Given the description of an element on the screen output the (x, y) to click on. 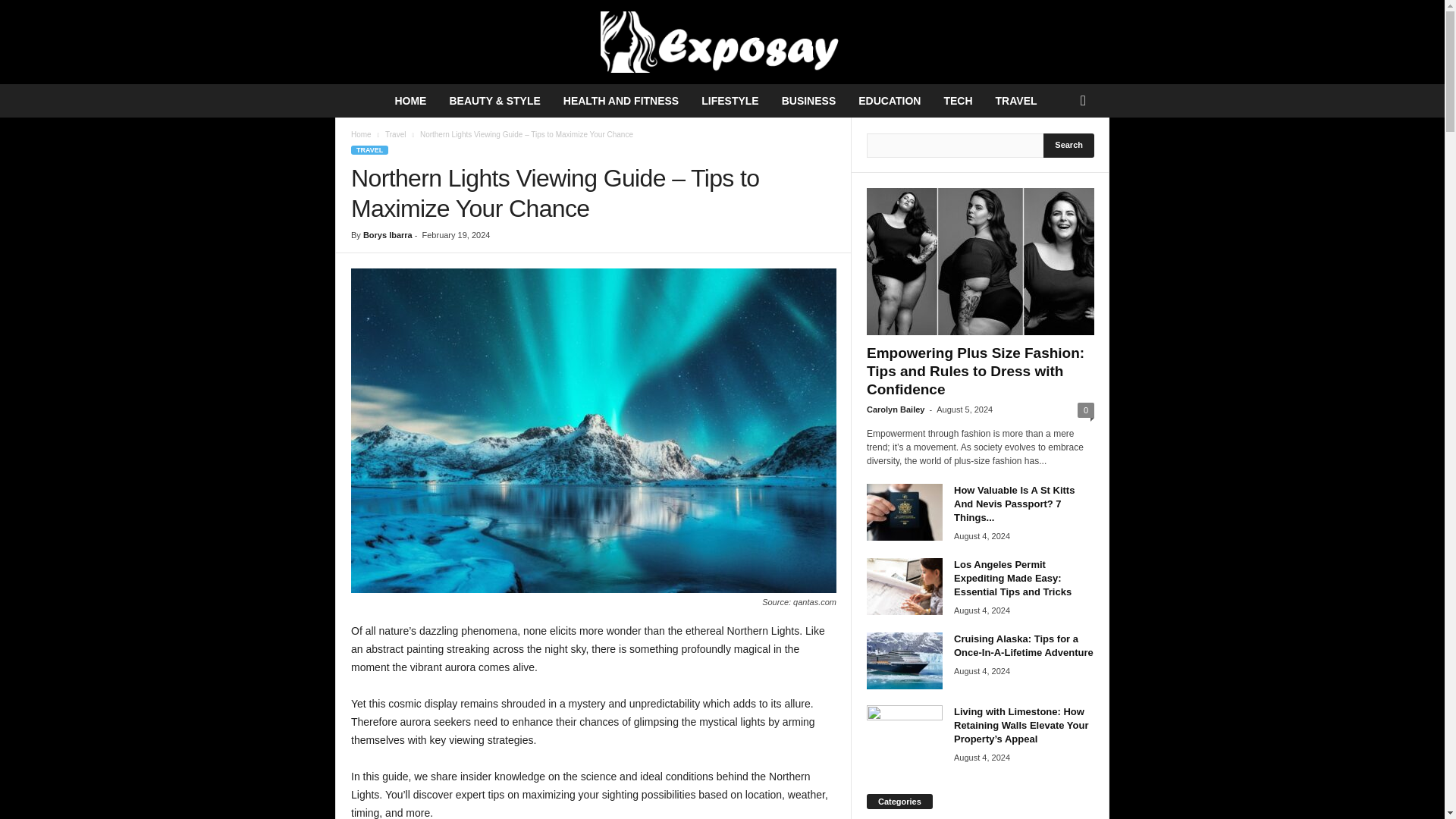
TRAVEL (1016, 100)
TECH (957, 100)
TRAVEL (369, 149)
HEALTH AND FITNESS (620, 100)
BUSINESS (808, 100)
HOME (410, 100)
LIFESTYLE (730, 100)
EDUCATION (889, 100)
Search (1068, 145)
View all posts in Travel (395, 134)
Home (360, 134)
Travel (395, 134)
Borys Ibarra (387, 234)
